Given the description of an element on the screen output the (x, y) to click on. 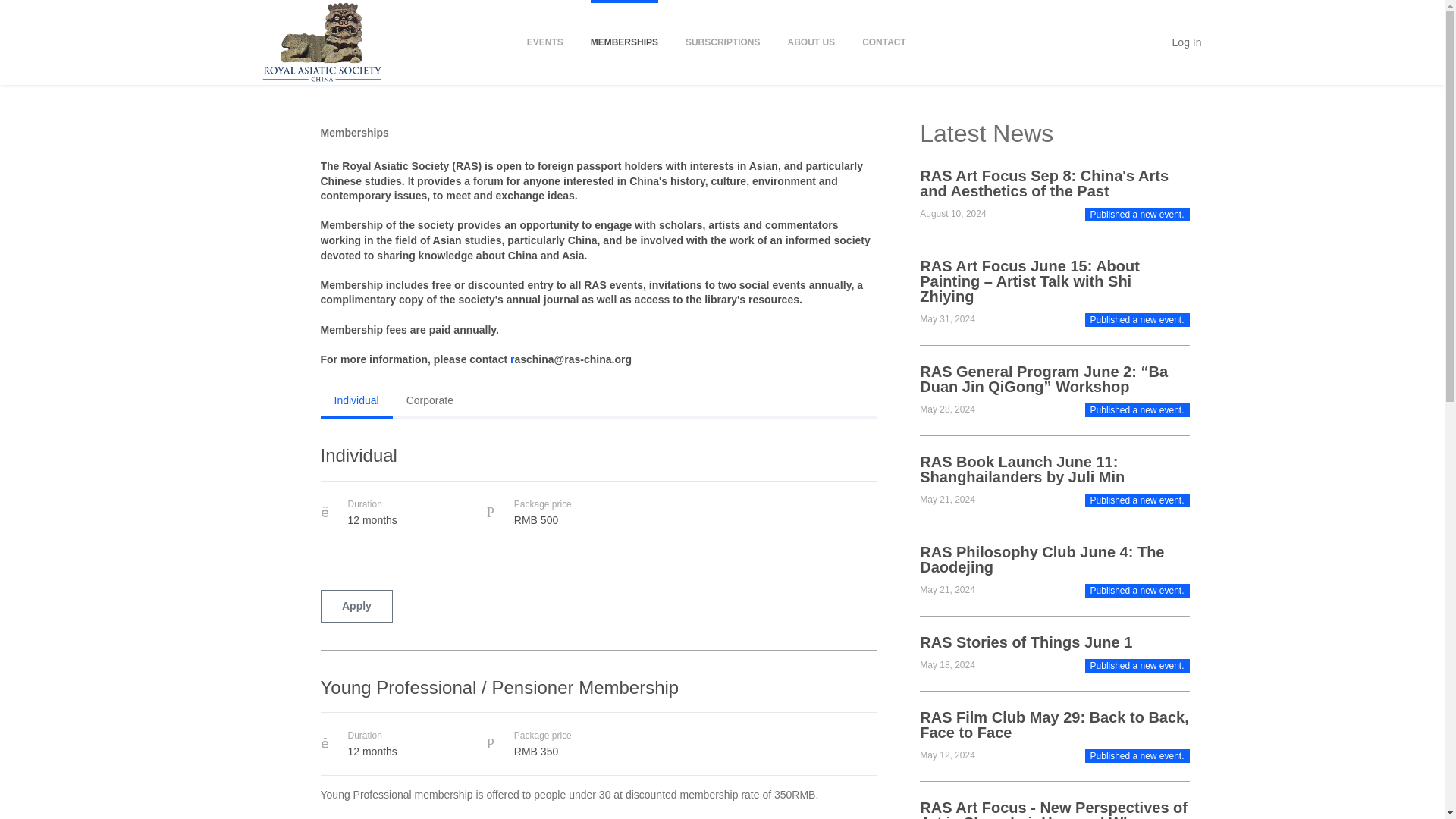
Individual (598, 462)
RAS Film Club May 29: Back to Back, Face to Face (1054, 725)
RAS Stories of Things June 1 (1026, 642)
SUBSCRIPTIONS (722, 42)
Corporate (429, 399)
RAS Book Launch June 11: Shanghailanders by Juli Min (1054, 469)
Apply (356, 605)
RAS Art Focus Sep 8: China's Arts and Aesthetics of the Past (1054, 183)
